Given the description of an element on the screen output the (x, y) to click on. 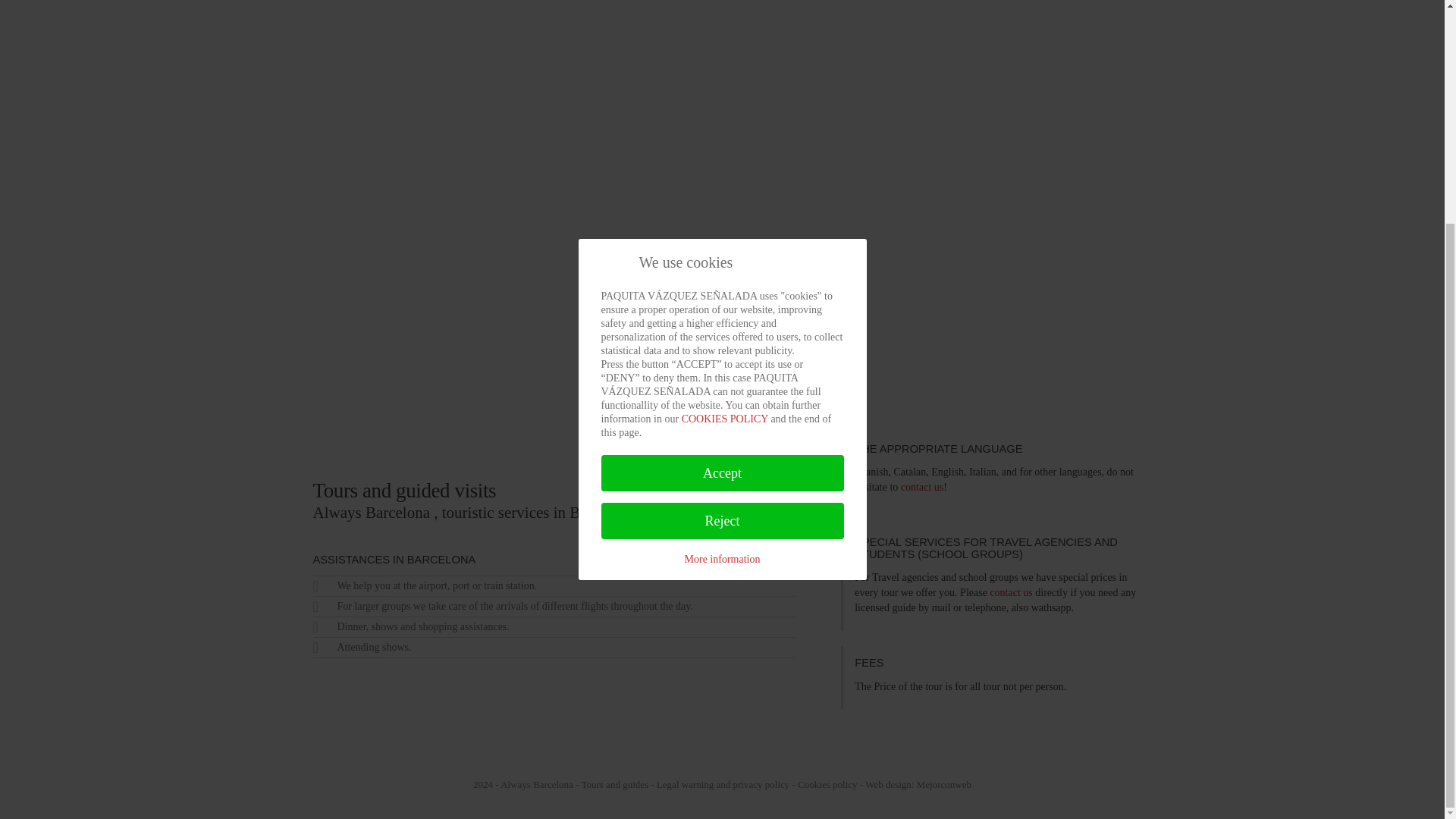
contact us (922, 487)
Cookies policy (827, 784)
Legal warning and privacy policy (722, 784)
Web design (944, 784)
contact us (1011, 592)
Mejorconweb (944, 784)
